Given the description of an element on the screen output the (x, y) to click on. 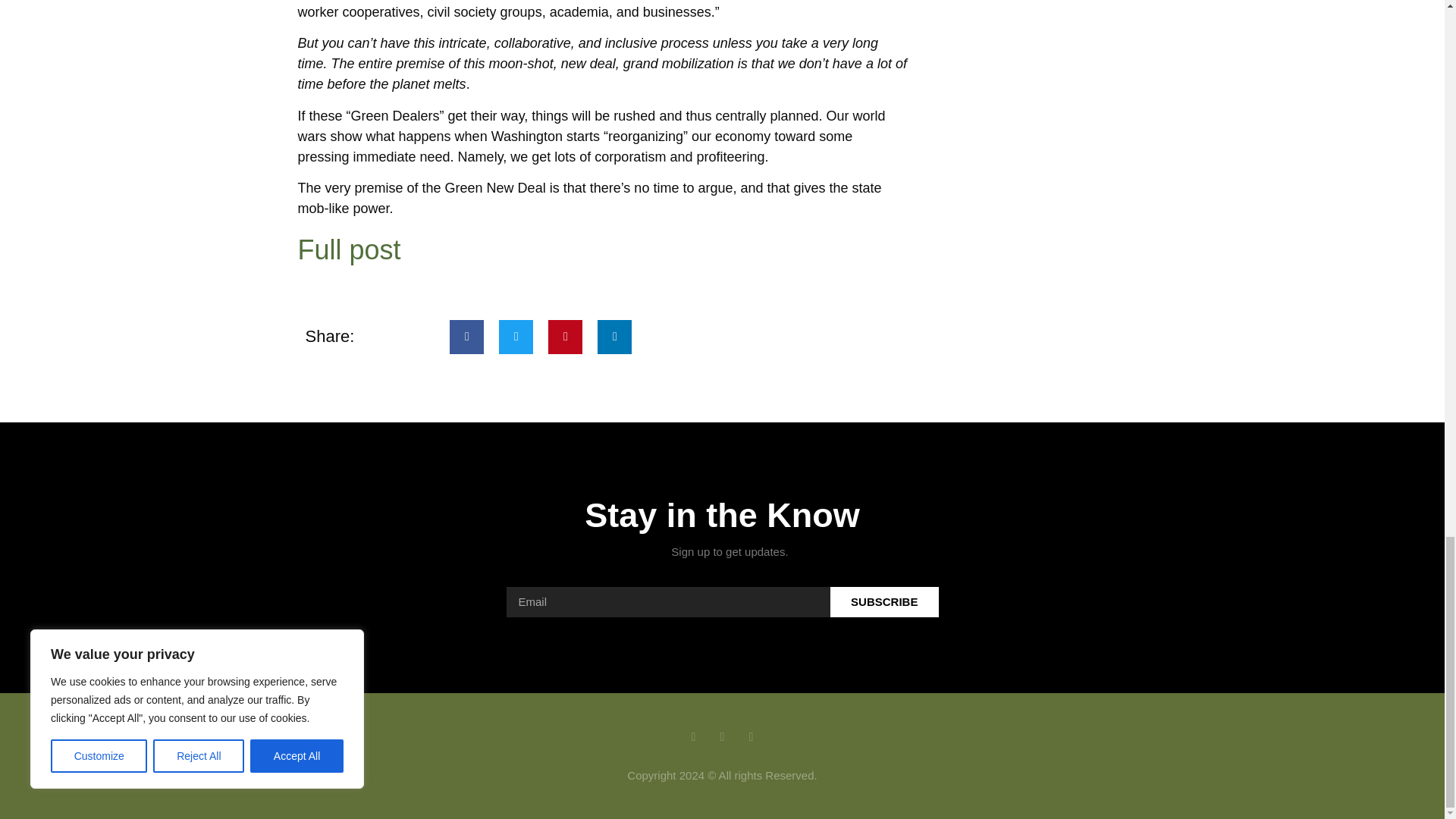
Full post (348, 249)
